Given the description of an element on the screen output the (x, y) to click on. 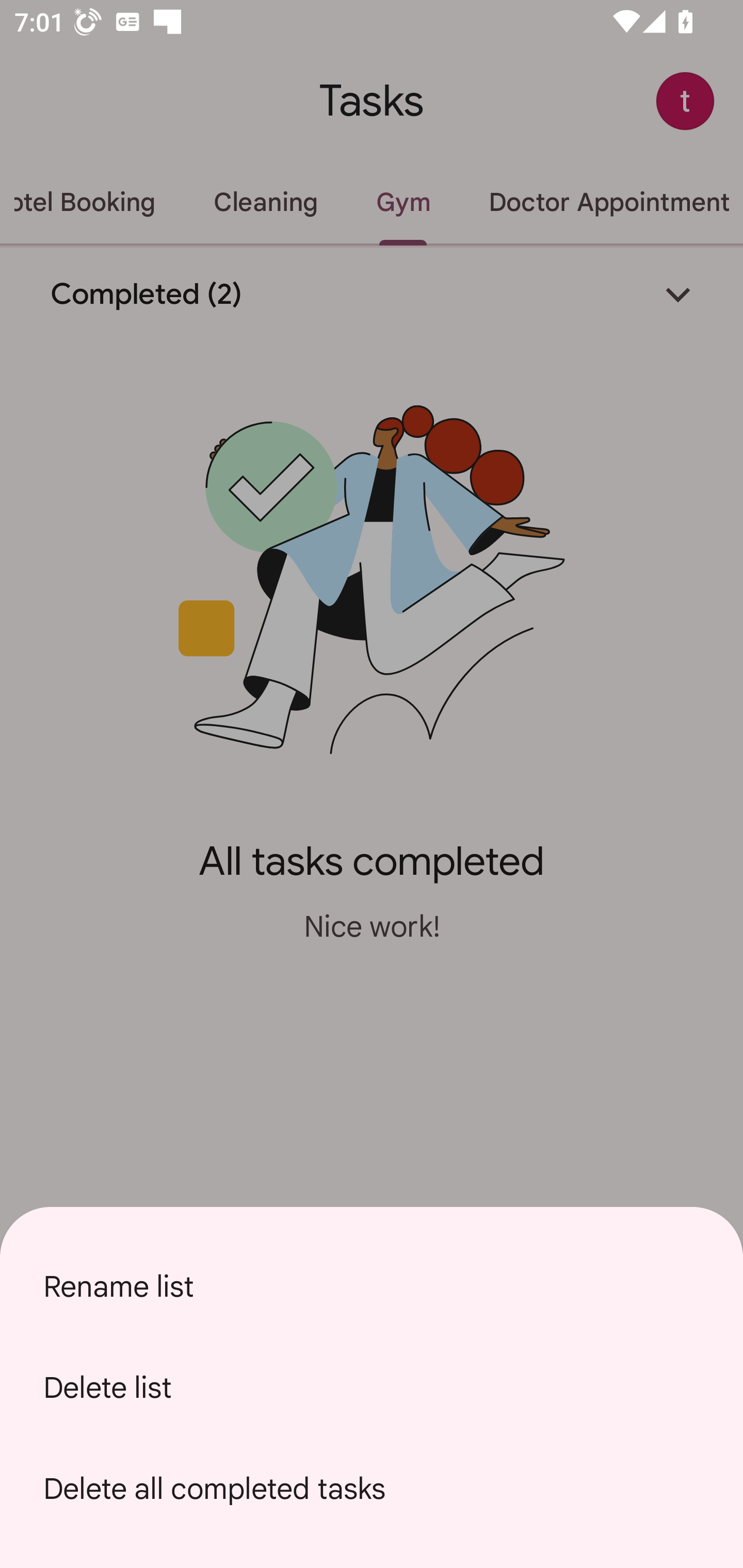
Rename list (371, 1286)
Delete list (371, 1387)
Delete all completed tasks (371, 1488)
